Given the description of an element on the screen output the (x, y) to click on. 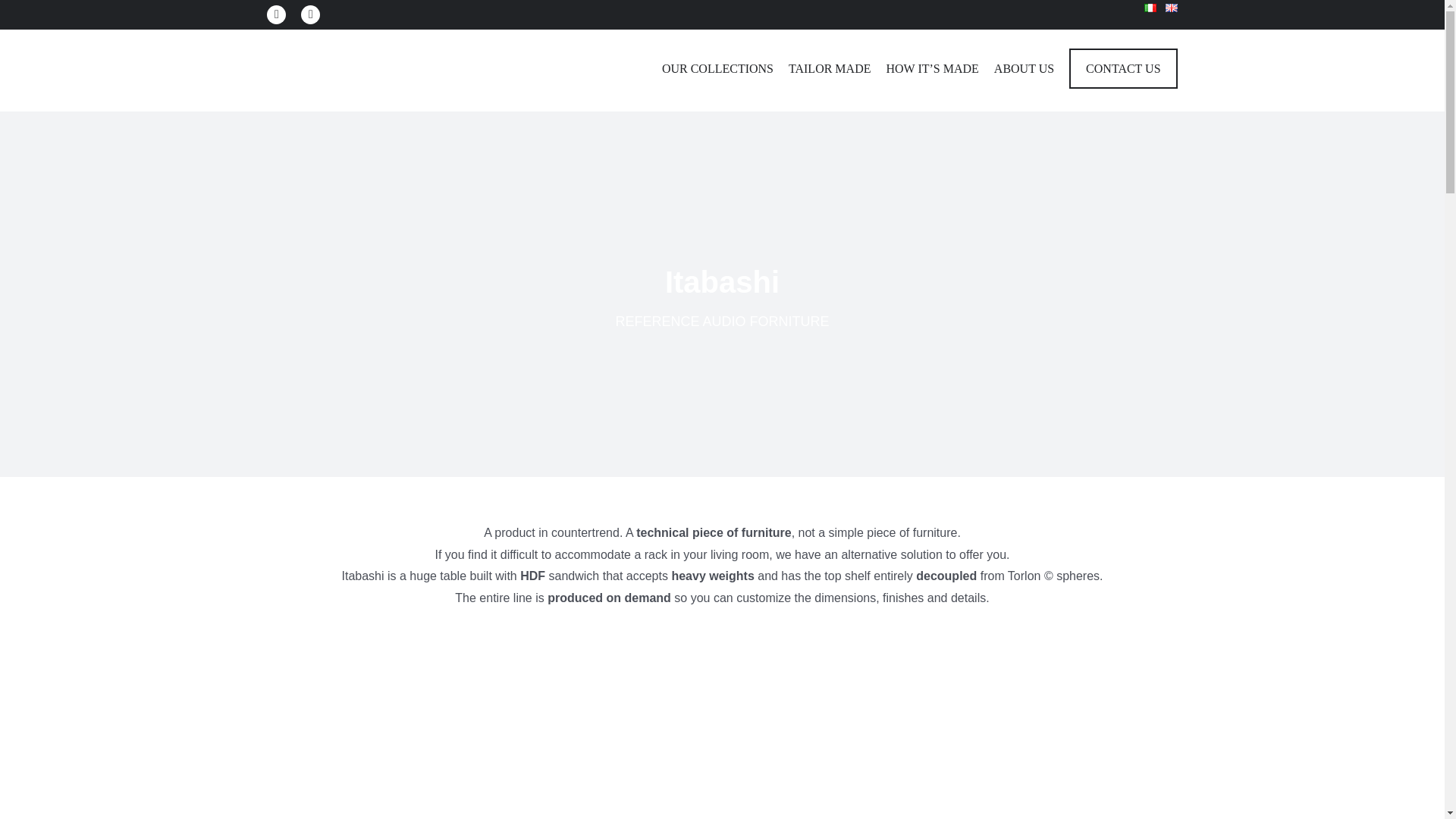
TAILOR MADE (829, 70)
CONTACT US (1122, 70)
OUR COLLECTIONS (717, 70)
Facebook (275, 13)
Instagram (310, 13)
ABOUT US (1024, 70)
